Given the description of an element on the screen output the (x, y) to click on. 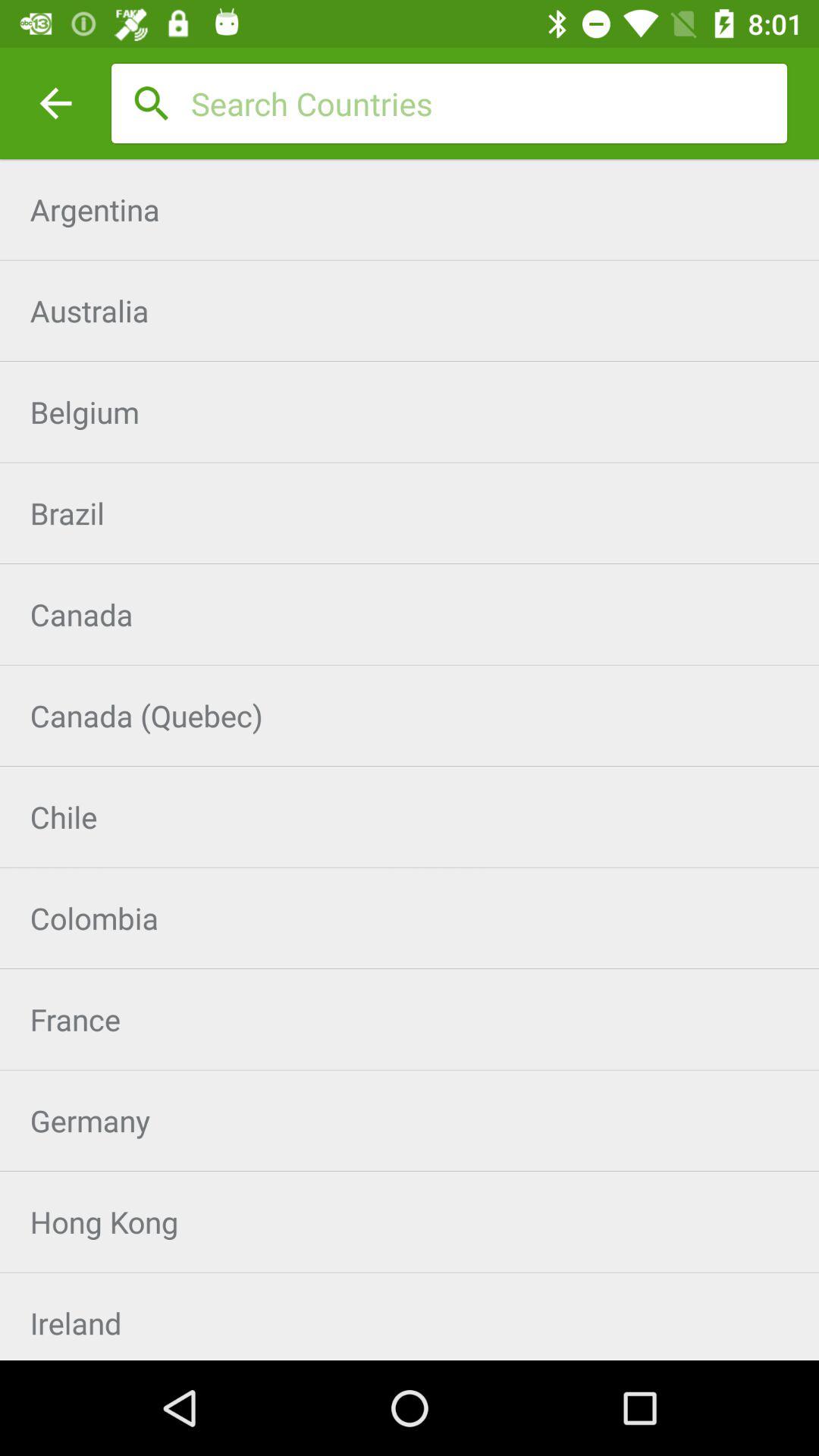
open the icon below colombia item (409, 1019)
